Given the description of an element on the screen output the (x, y) to click on. 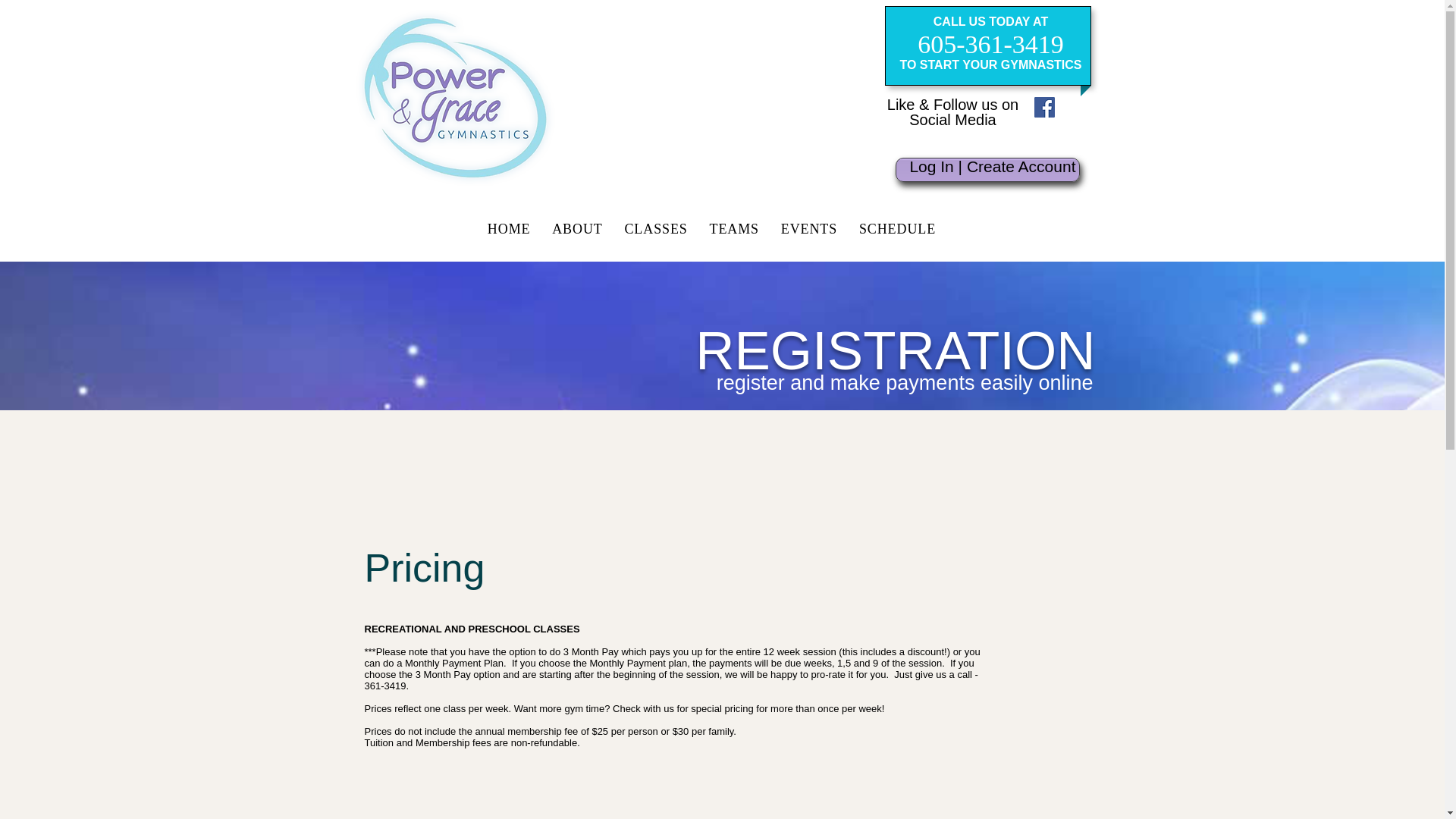
CLASSES (655, 228)
ABOUT (577, 228)
EVENTS (808, 228)
HOME (508, 228)
TEAMS (734, 228)
Create Account (1020, 166)
Log In (930, 166)
